Given the description of an element on the screen output the (x, y) to click on. 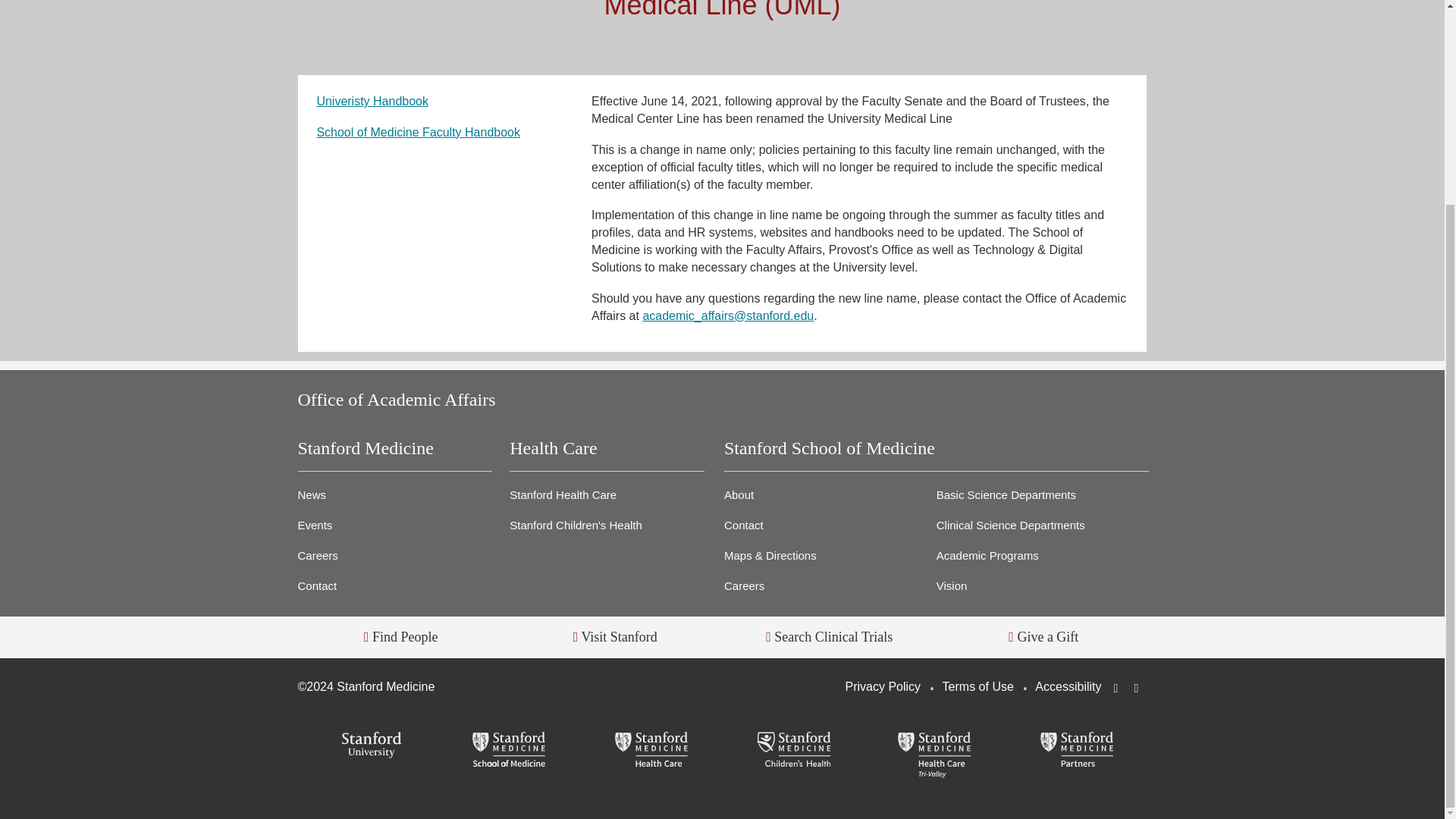
Stanford Medicine Partners (1076, 750)
Stanford Children's Health (793, 750)
Stanford School of Medicine (509, 750)
Stanford Health Care (650, 750)
Stanford University (368, 746)
Stanford Health Care Tri-Valley (934, 755)
